Given the description of an element on the screen output the (x, y) to click on. 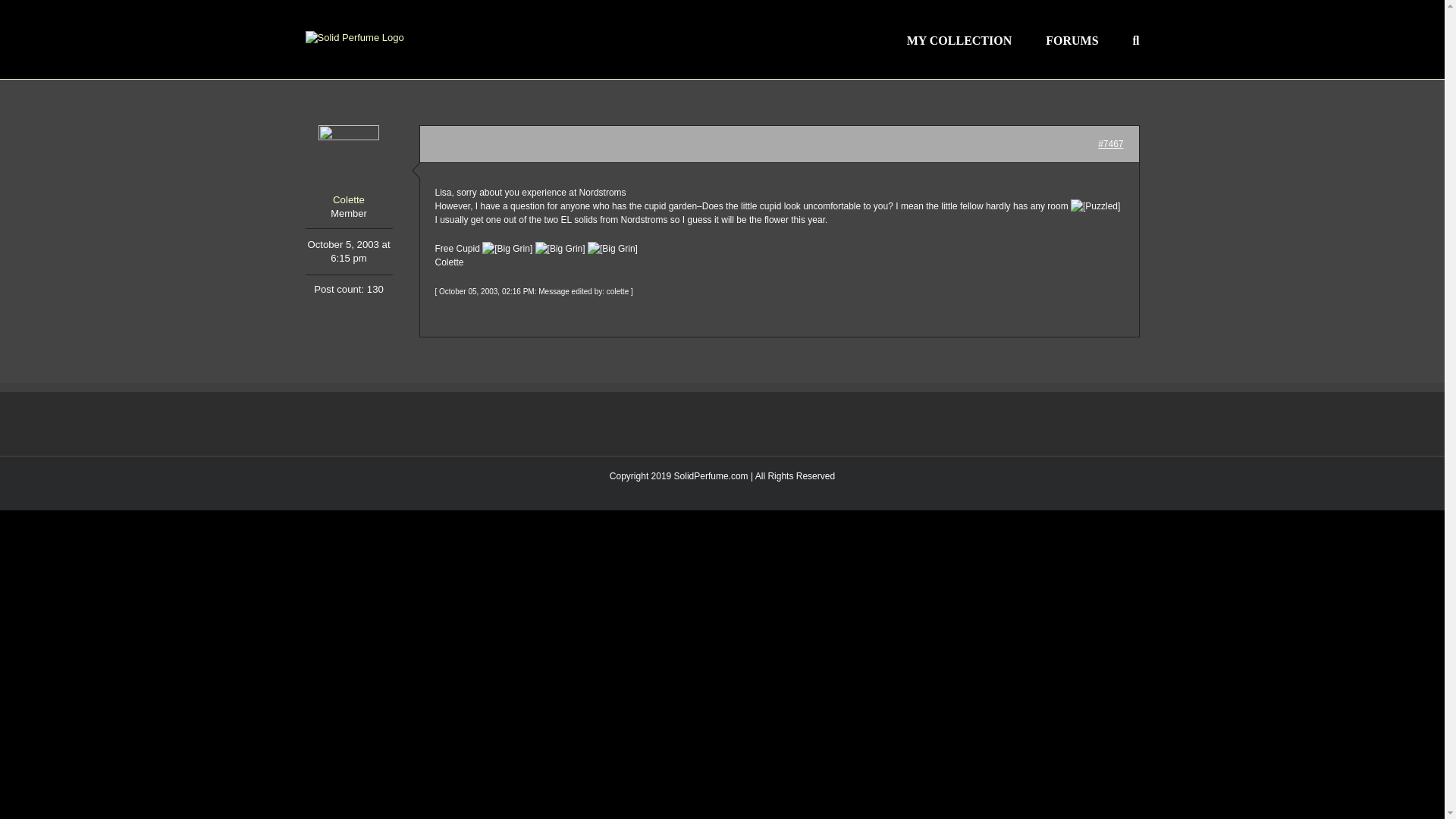
View Colette's profile (347, 166)
MY COLLECTION (959, 39)
Colette (347, 166)
